Given the description of an element on the screen output the (x, y) to click on. 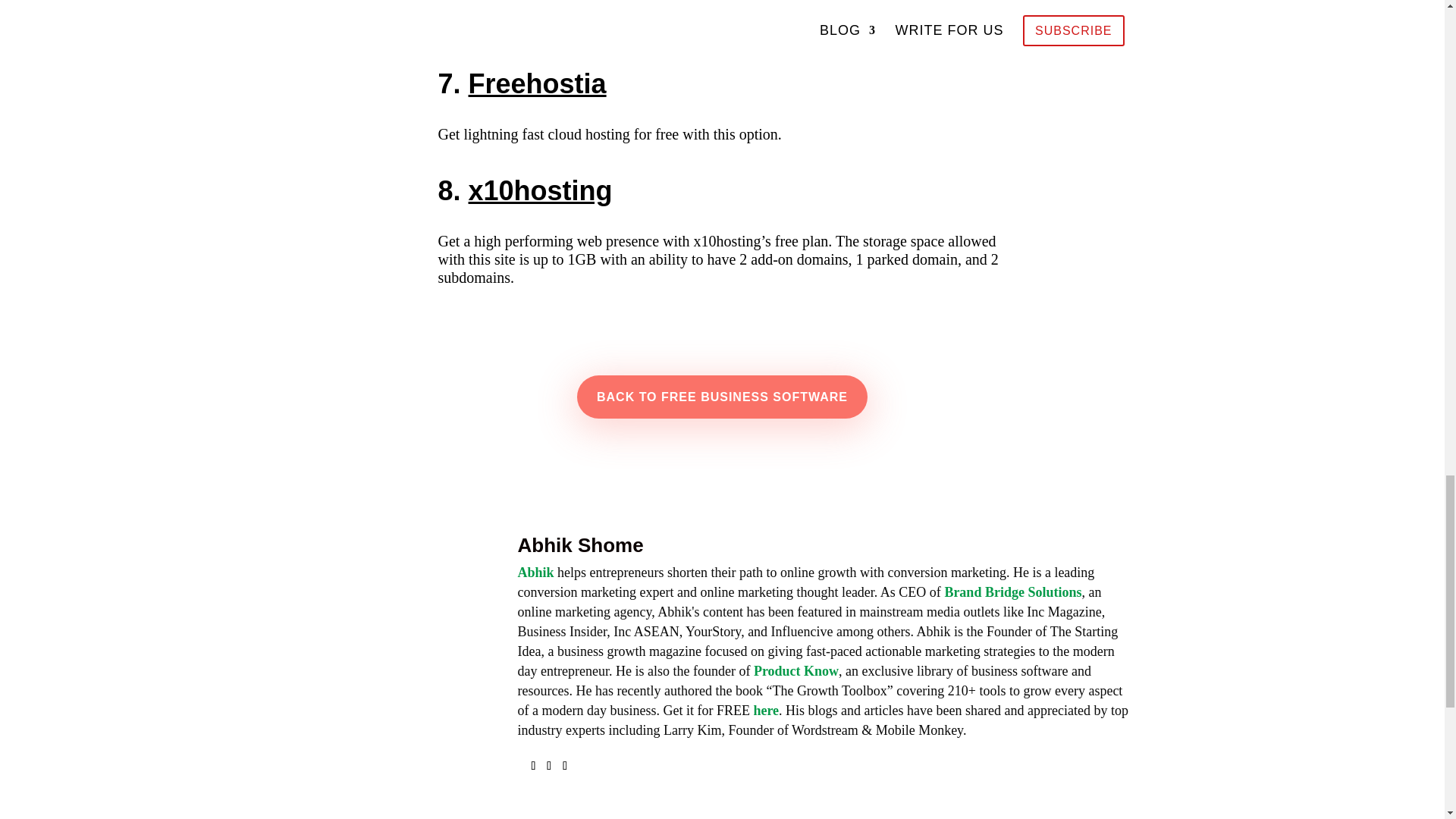
Abhik (534, 572)
Freehostia (537, 83)
x10hosting (540, 190)
here (765, 710)
Brand Bridge Solutions (1012, 591)
Product Know (796, 670)
BACK TO FREE BUSINESS SOFTWARE (721, 396)
